Given the description of an element on the screen output the (x, y) to click on. 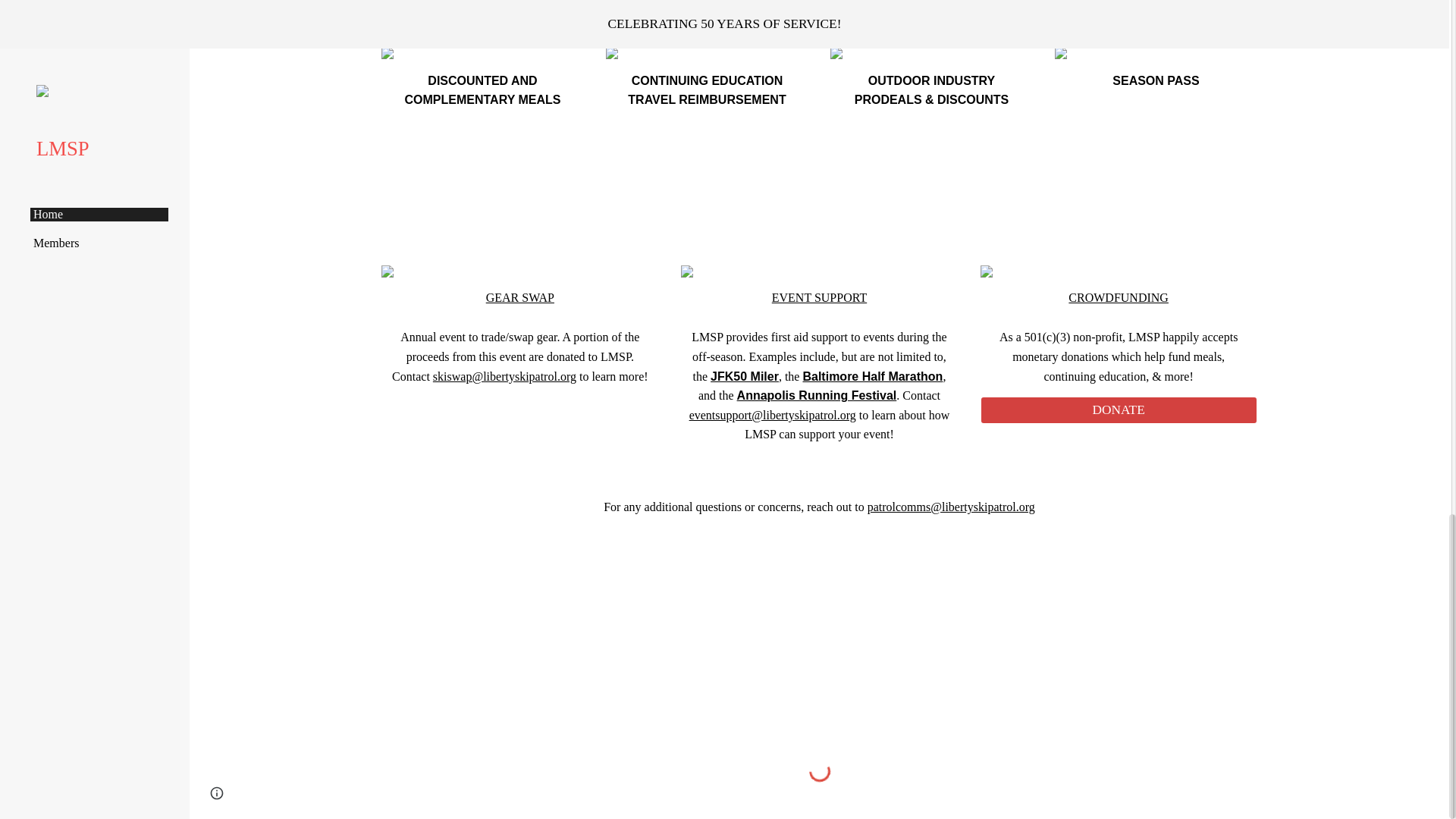
Baltimore Half Marathon (872, 376)
GEAR SWAP (520, 297)
CROWDFUNDING (1118, 297)
Custom embed (818, 771)
JFK50 Miler (744, 376)
Annapolis Running Festival (816, 395)
DONATE (1118, 410)
